Given the description of an element on the screen output the (x, y) to click on. 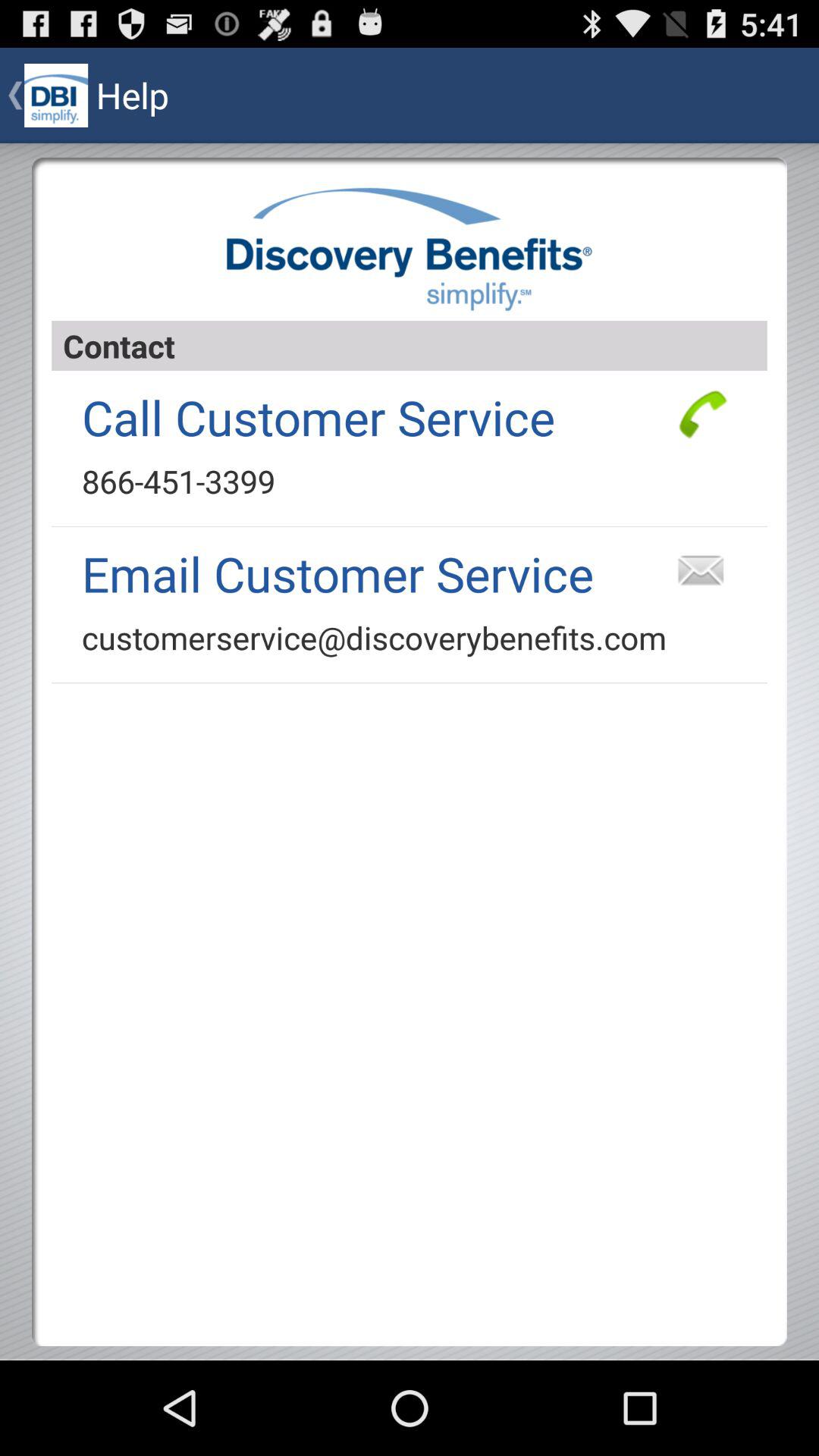
press contact app (409, 345)
